Given the description of an element on the screen output the (x, y) to click on. 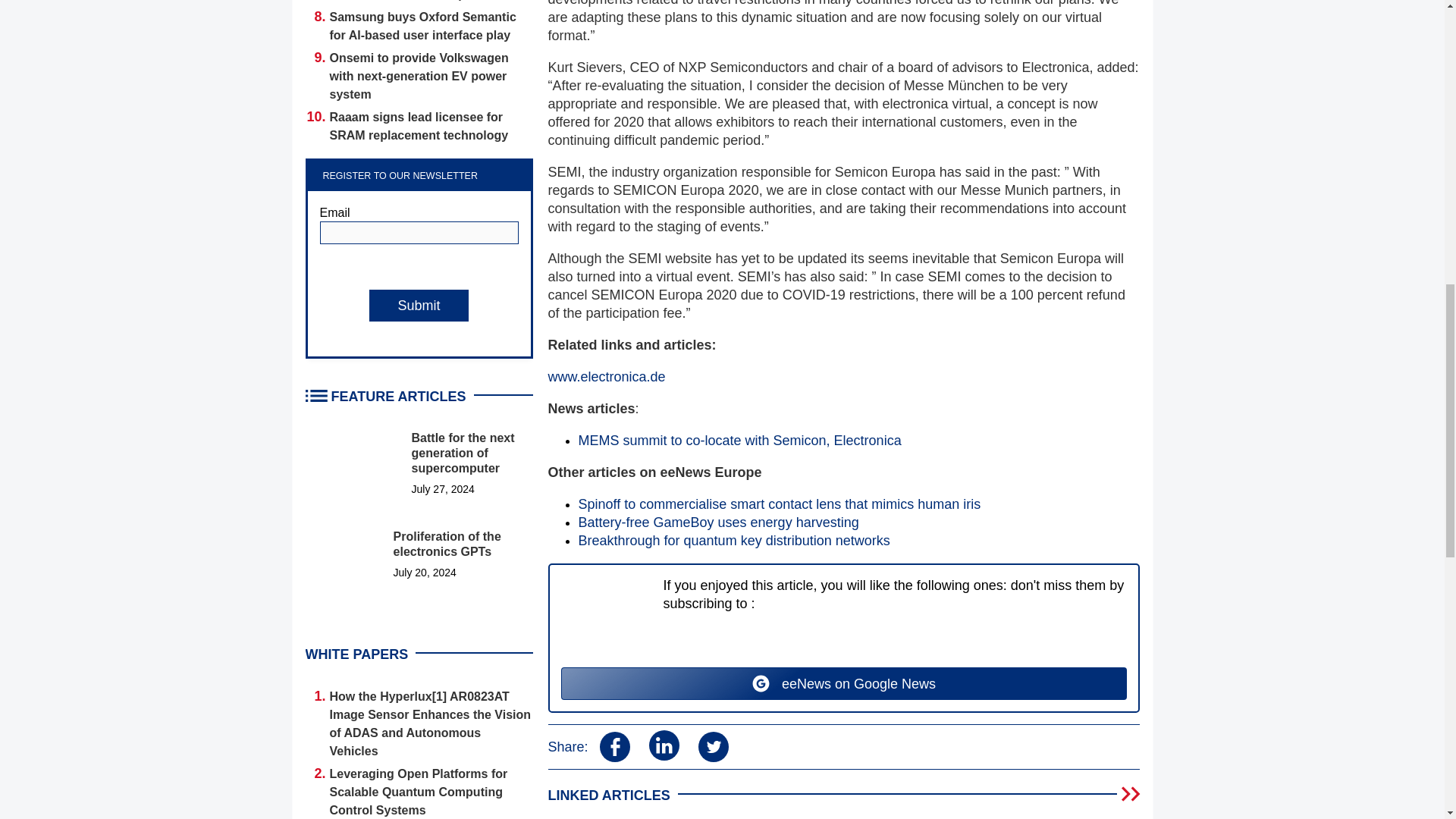
Submit (418, 305)
